Given the description of an element on the screen output the (x, y) to click on. 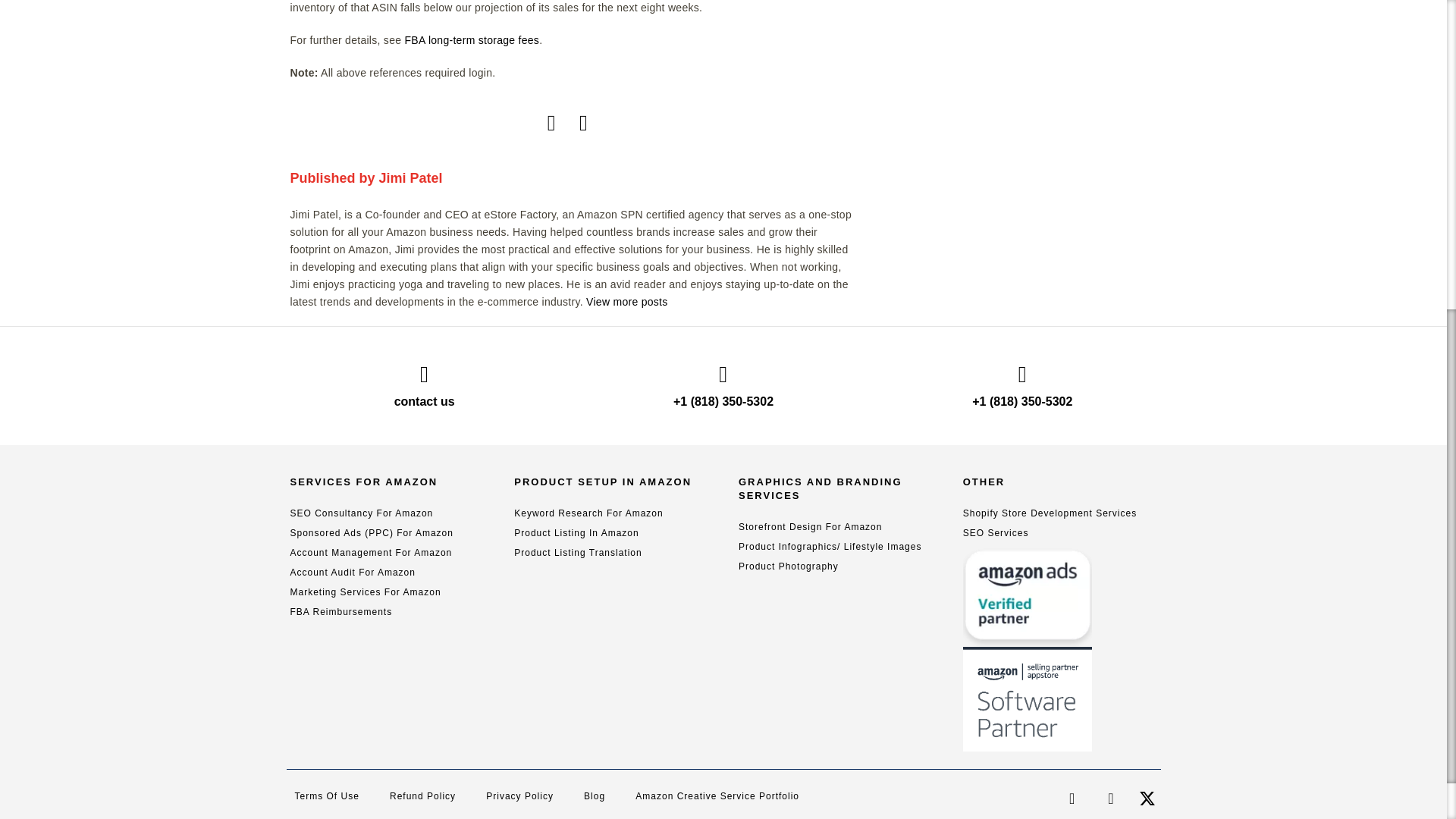
Keyword Research For Amazon (587, 512)
contact us (424, 400)
View more posts (626, 301)
SEO Consultancy For Amazon (360, 512)
FBA Reimbursements (340, 611)
Marketing Services For Amazon (365, 592)
Account Audit For Amazon (351, 572)
FBA long-term storage fees (471, 39)
Account Management For Amazon (370, 552)
